Given the description of an element on the screen output the (x, y) to click on. 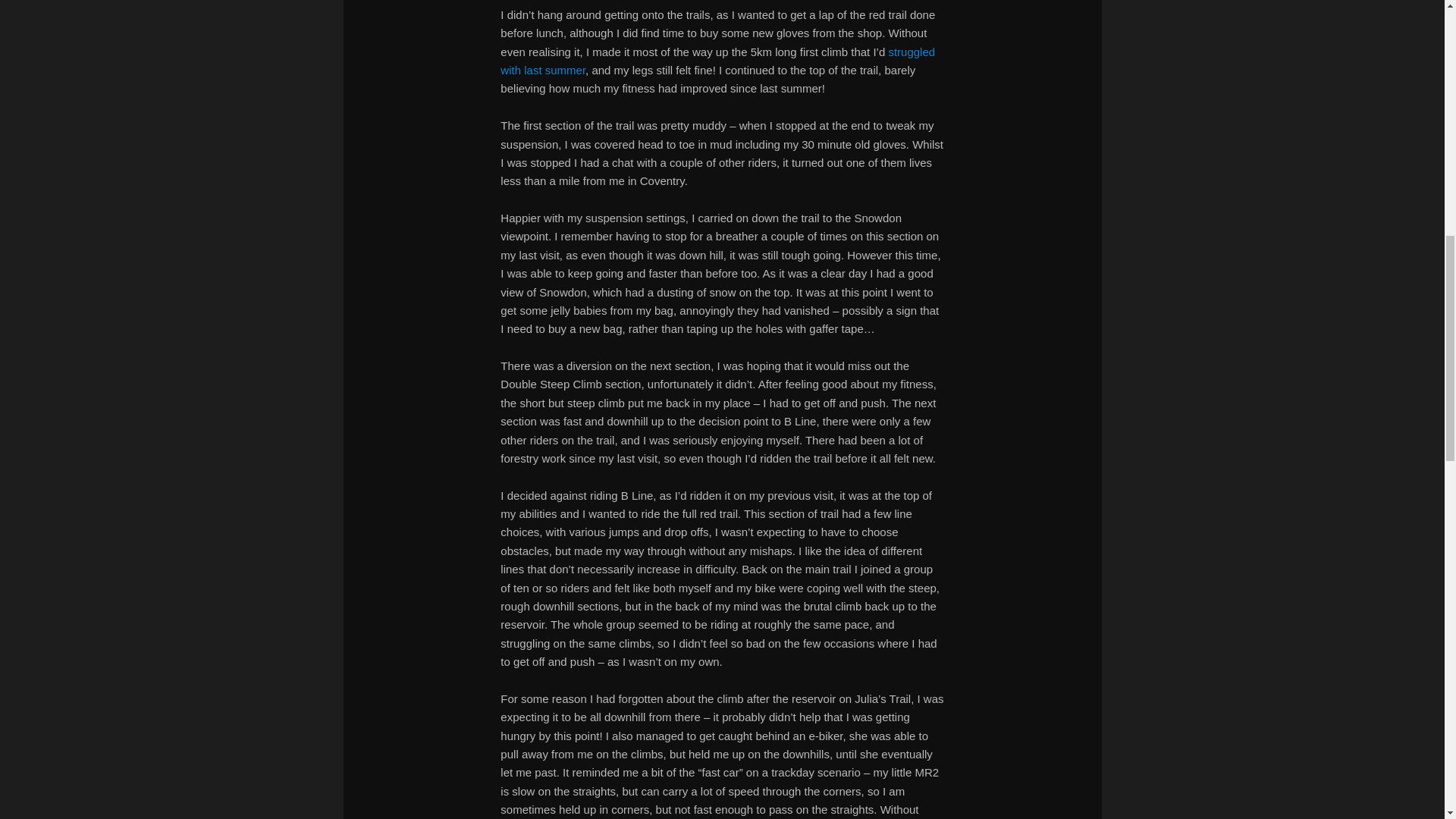
struggled with last summer (717, 60)
